Given the description of an element on the screen output the (x, y) to click on. 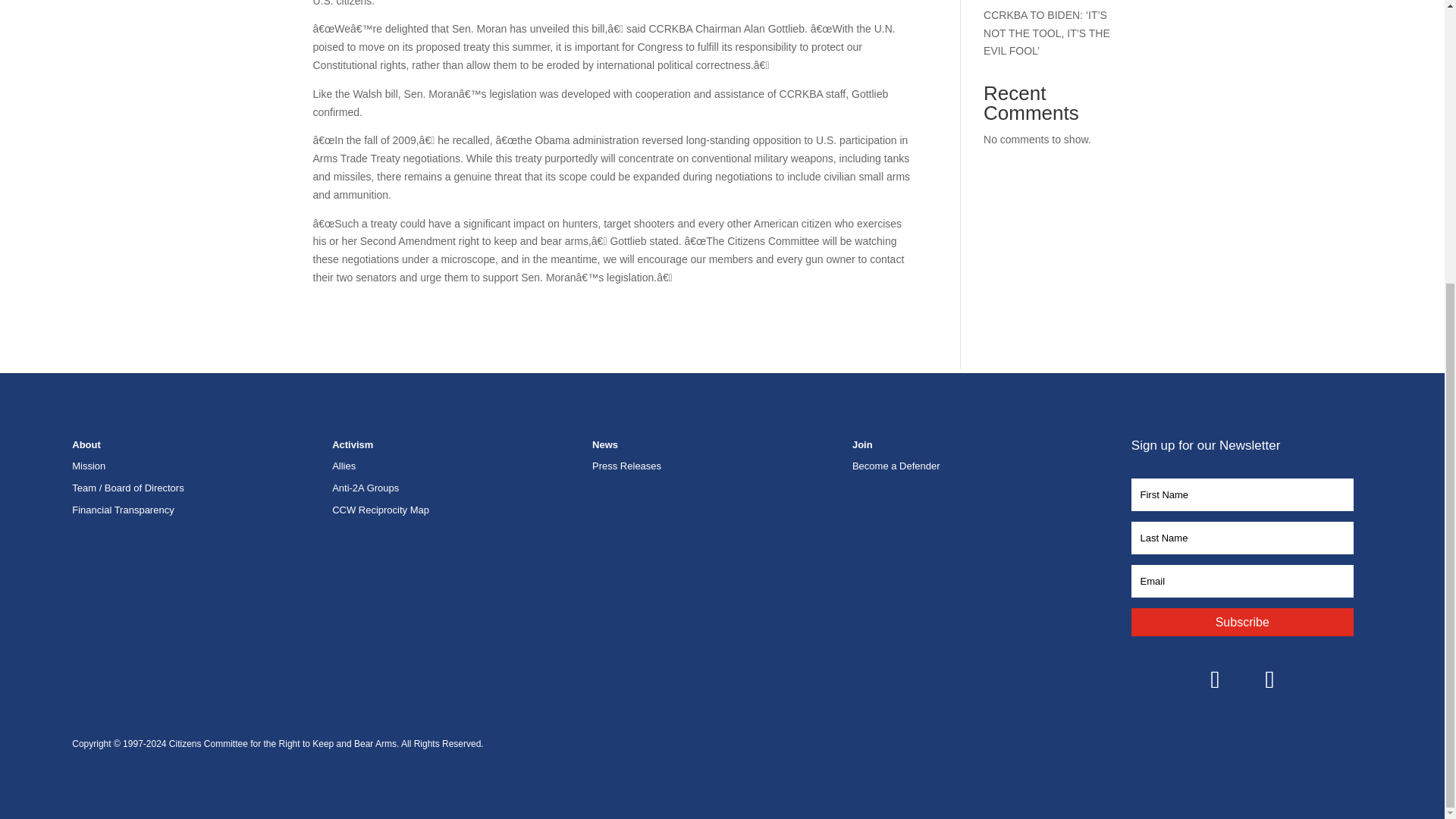
Follow on X (1269, 679)
Subscribe (1242, 622)
Follow on Facebook (1215, 679)
